Given the description of an element on the screen output the (x, y) to click on. 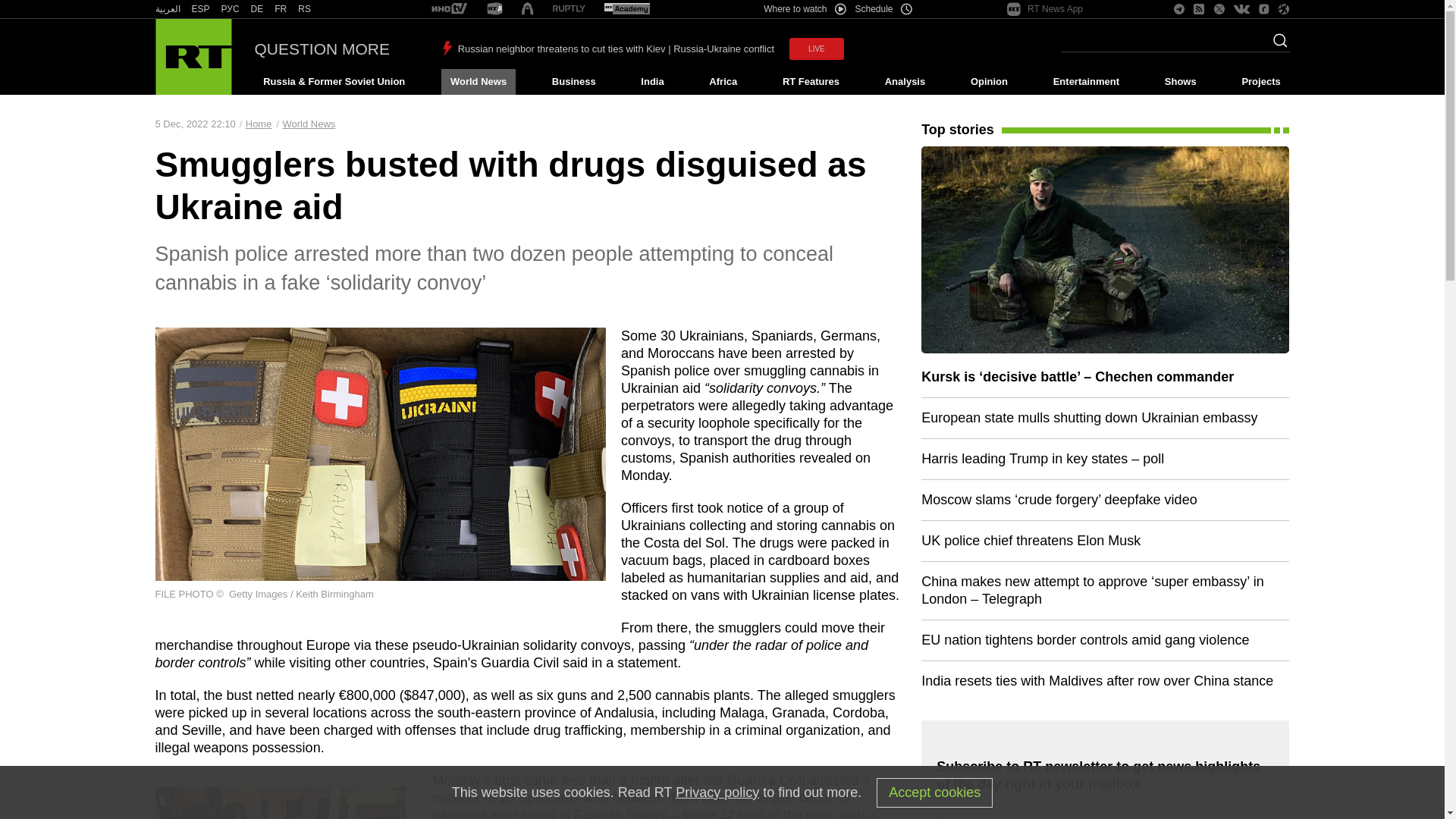
ESP (199, 9)
RT  (569, 8)
RT  (448, 9)
RT  (494, 9)
Search (1276, 44)
RT  (230, 9)
Analysis (905, 81)
FR (280, 9)
RS (304, 9)
RT  (304, 9)
